Given the description of an element on the screen output the (x, y) to click on. 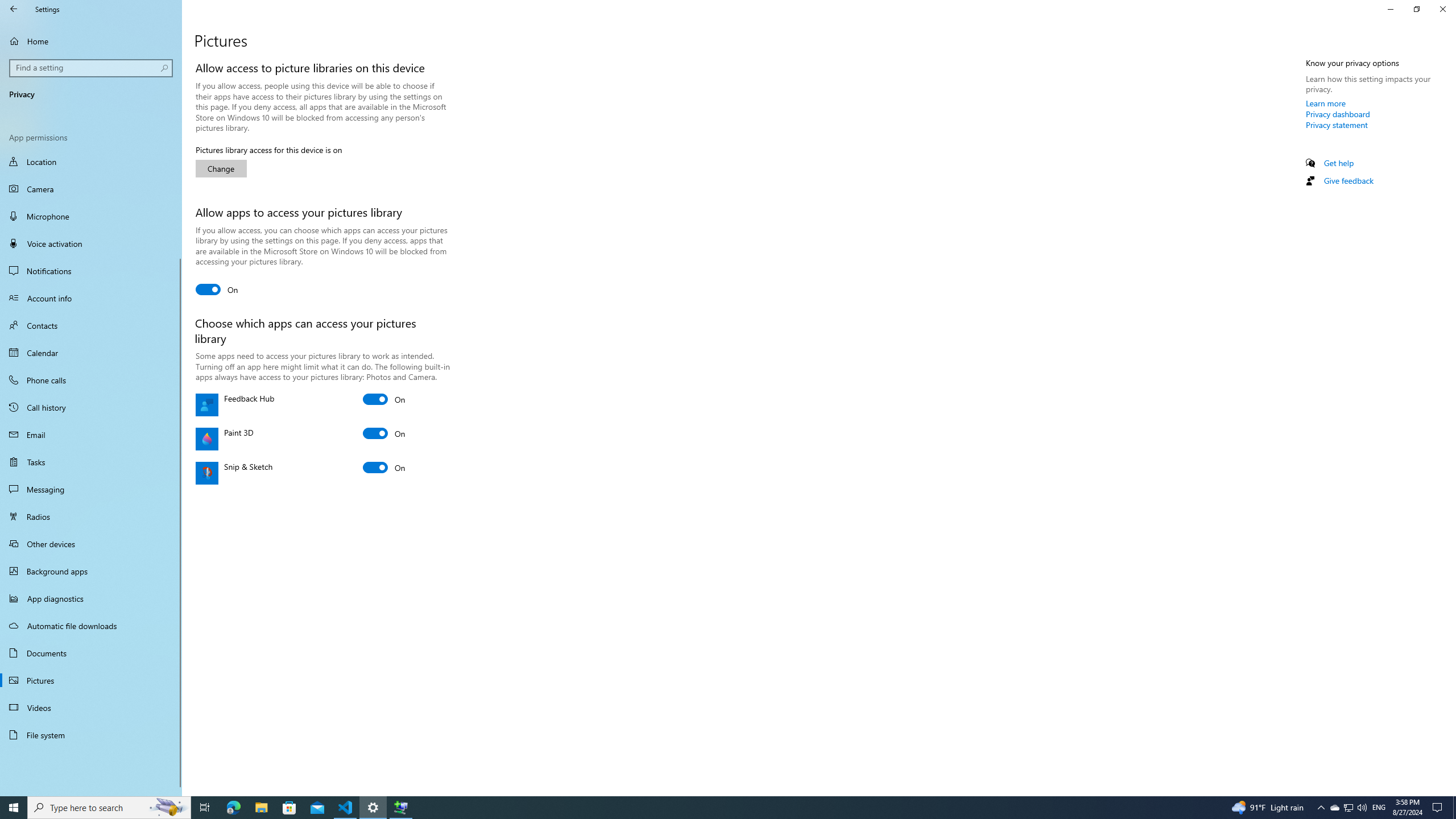
Videos (91, 707)
Allow apps to access your pictures library (216, 289)
Privacy statement (1336, 124)
Email (91, 433)
Background apps (91, 570)
Voice activation (91, 243)
Location (91, 162)
